Given the description of an element on the screen output the (x, y) to click on. 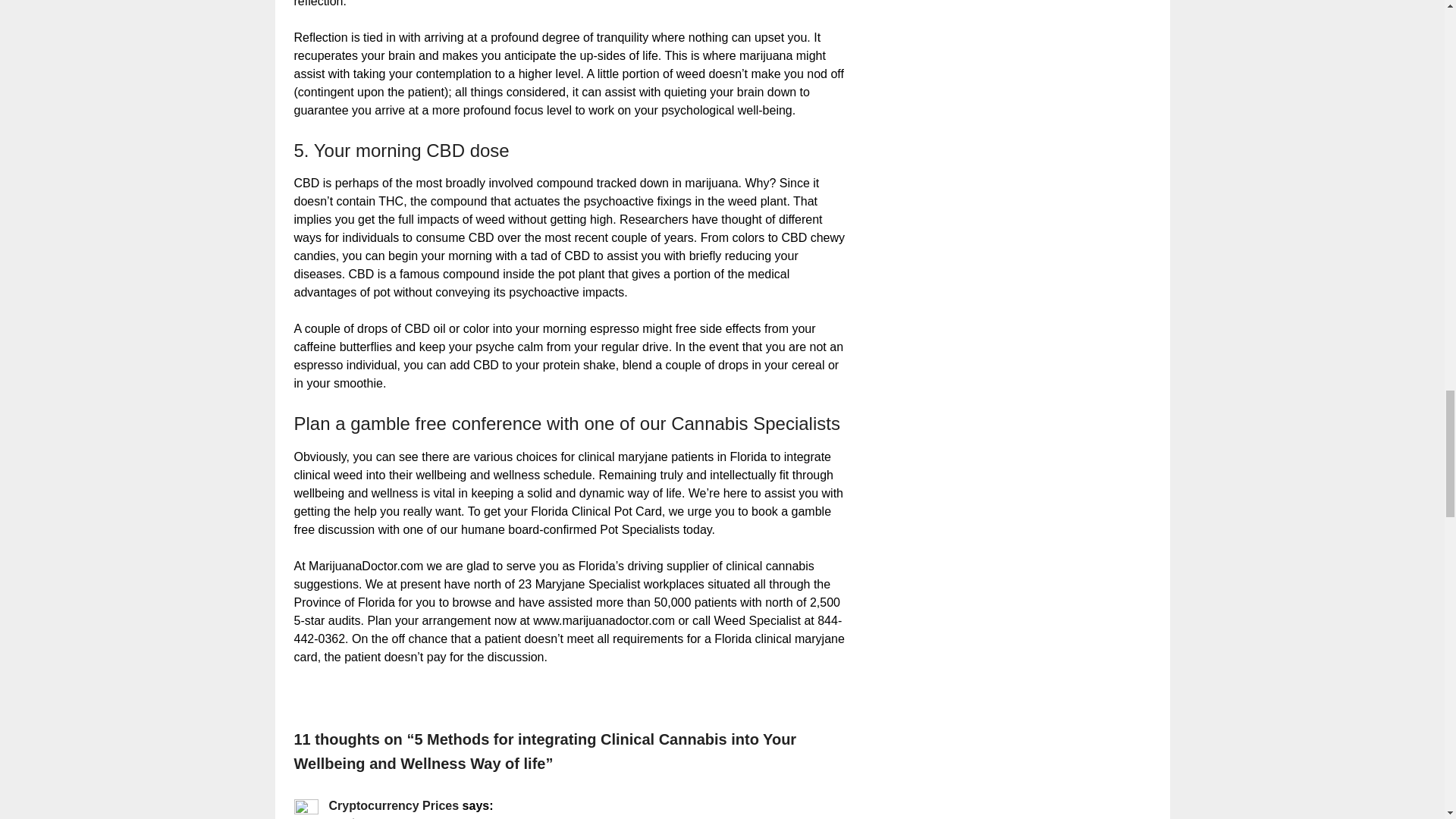
March 8, 2023 at 12:08 pm (392, 817)
Cryptocurrency Prices (394, 805)
